Given the description of an element on the screen output the (x, y) to click on. 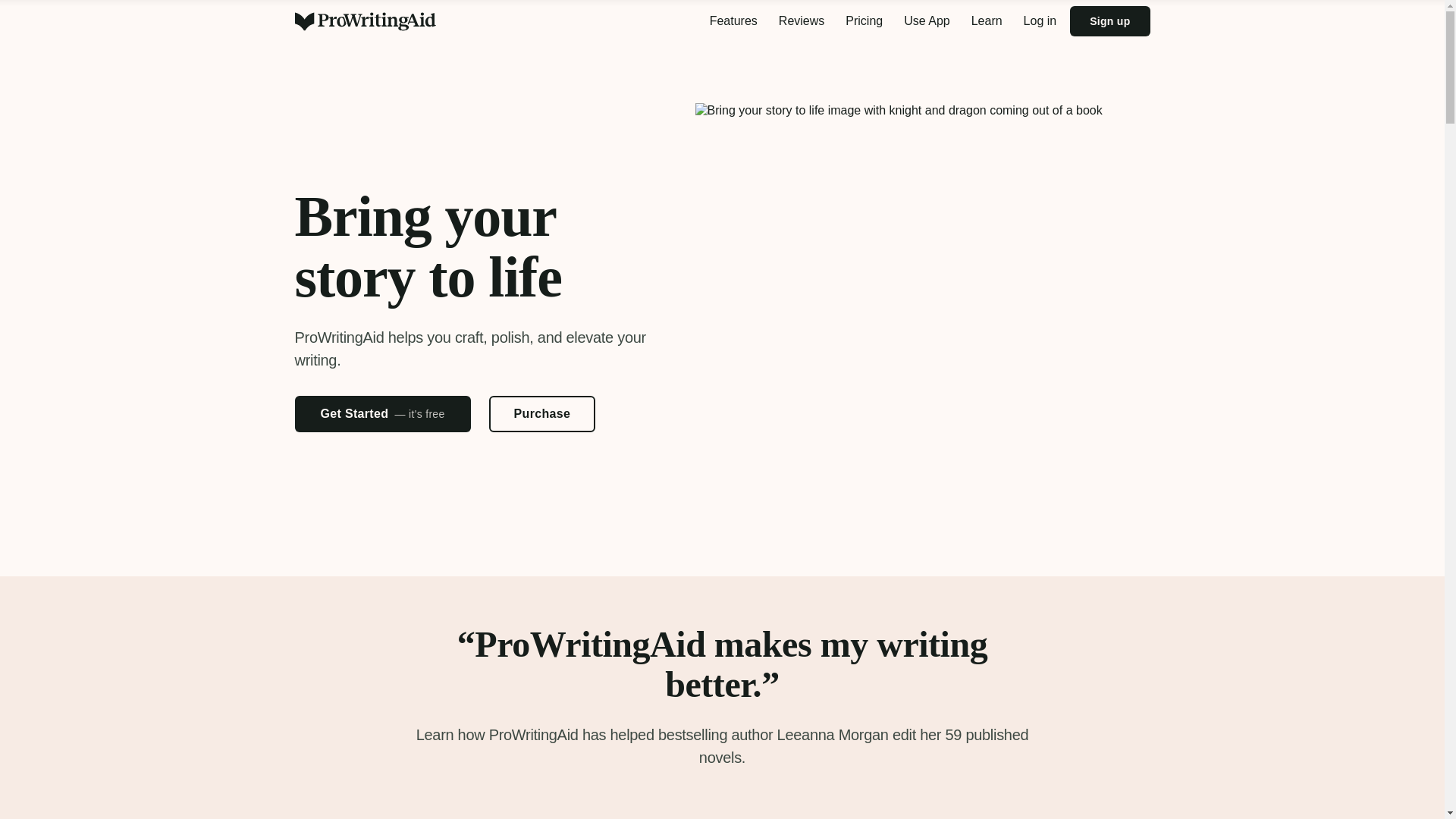
Pricing (863, 21)
Log in (1039, 21)
Reviews (801, 21)
Use App (926, 21)
Purchase (542, 413)
Features (733, 21)
Learn (986, 21)
Sign up (1110, 20)
